Given the description of an element on the screen output the (x, y) to click on. 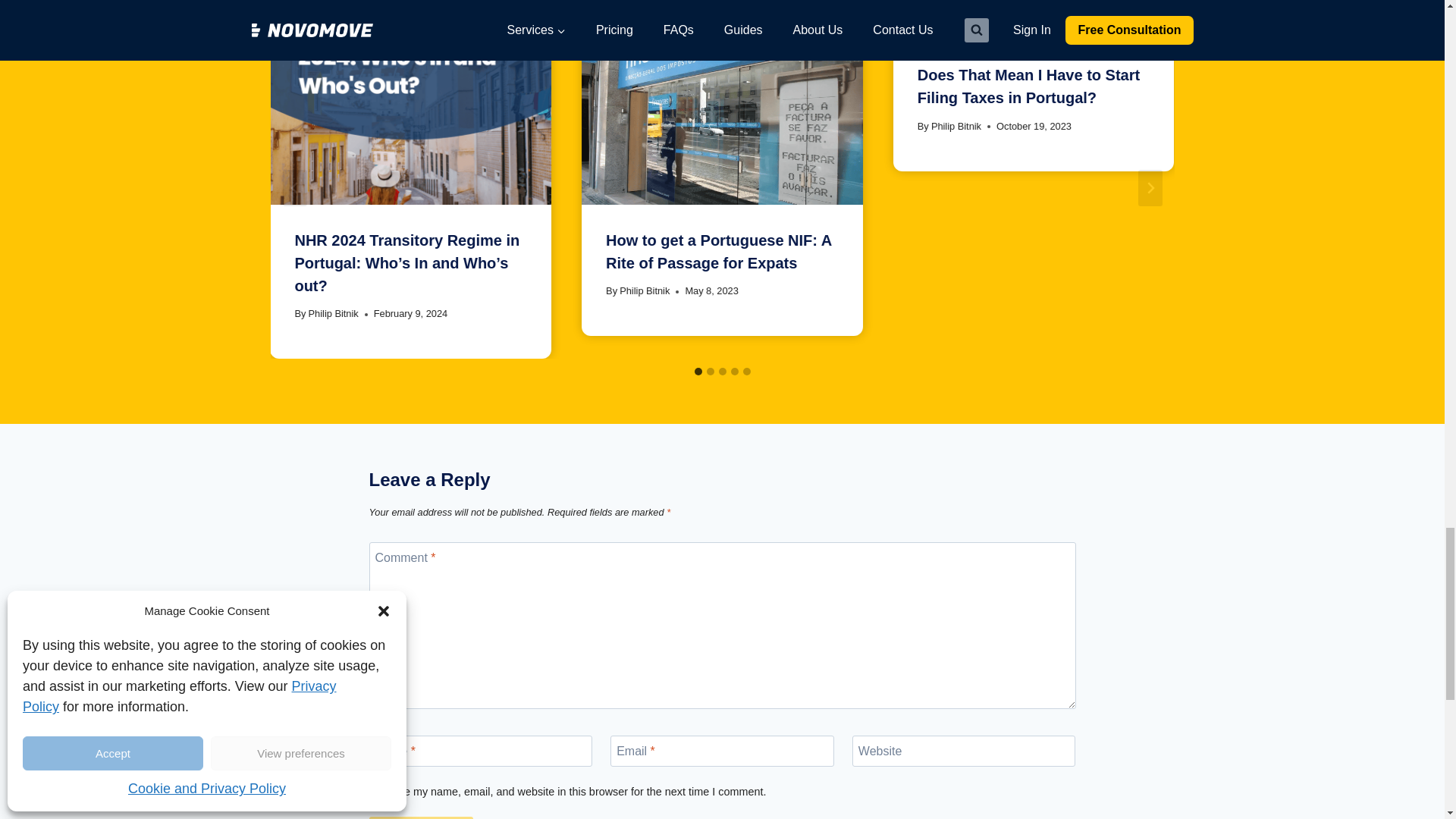
Post Comment (420, 817)
yes (373, 791)
